Given the description of an element on the screen output the (x, y) to click on. 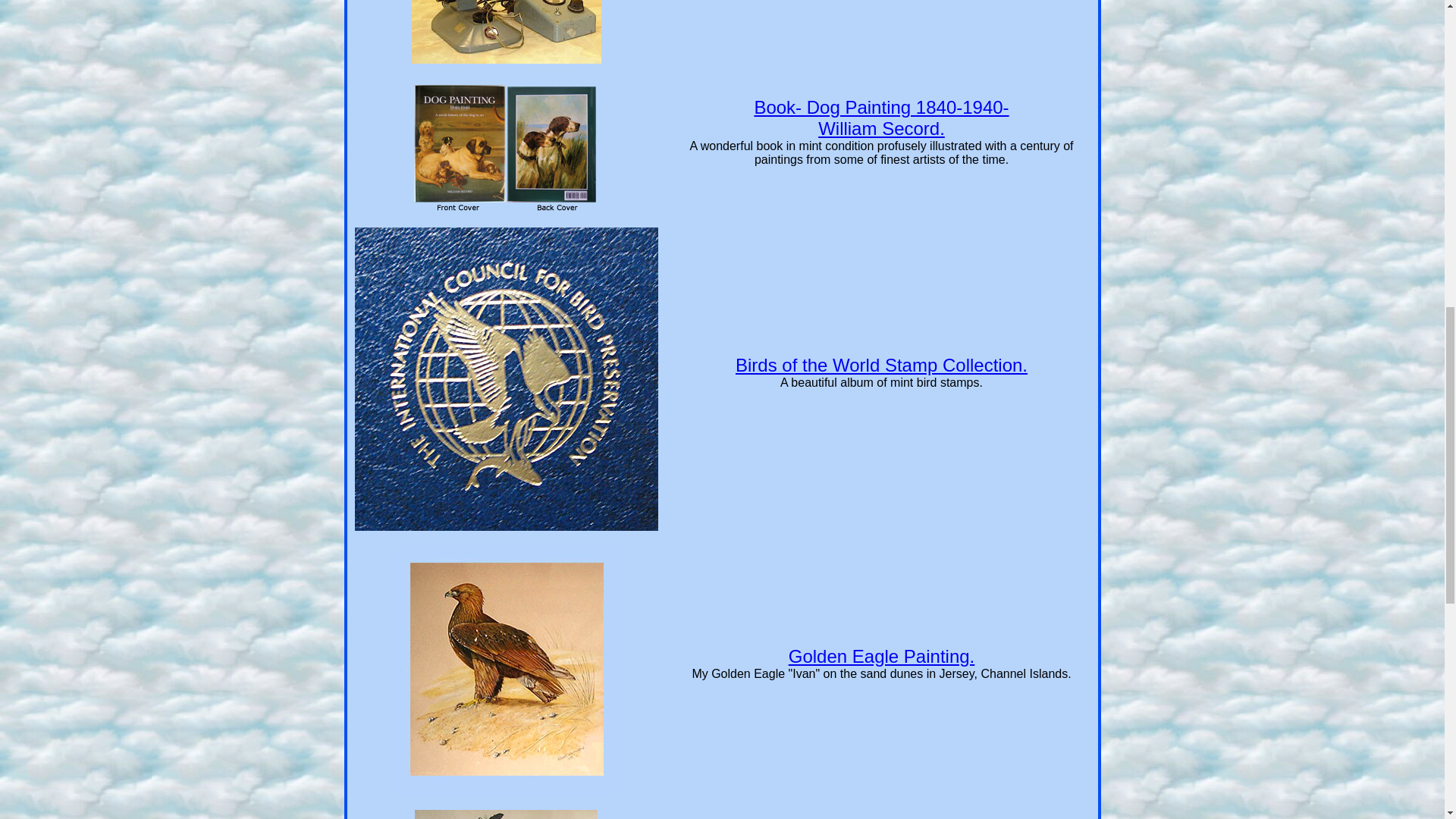
Birds of the World Stamp Collection. (881, 364)
Golden Eagle Painting. (882, 656)
